Given the description of an element on the screen output the (x, y) to click on. 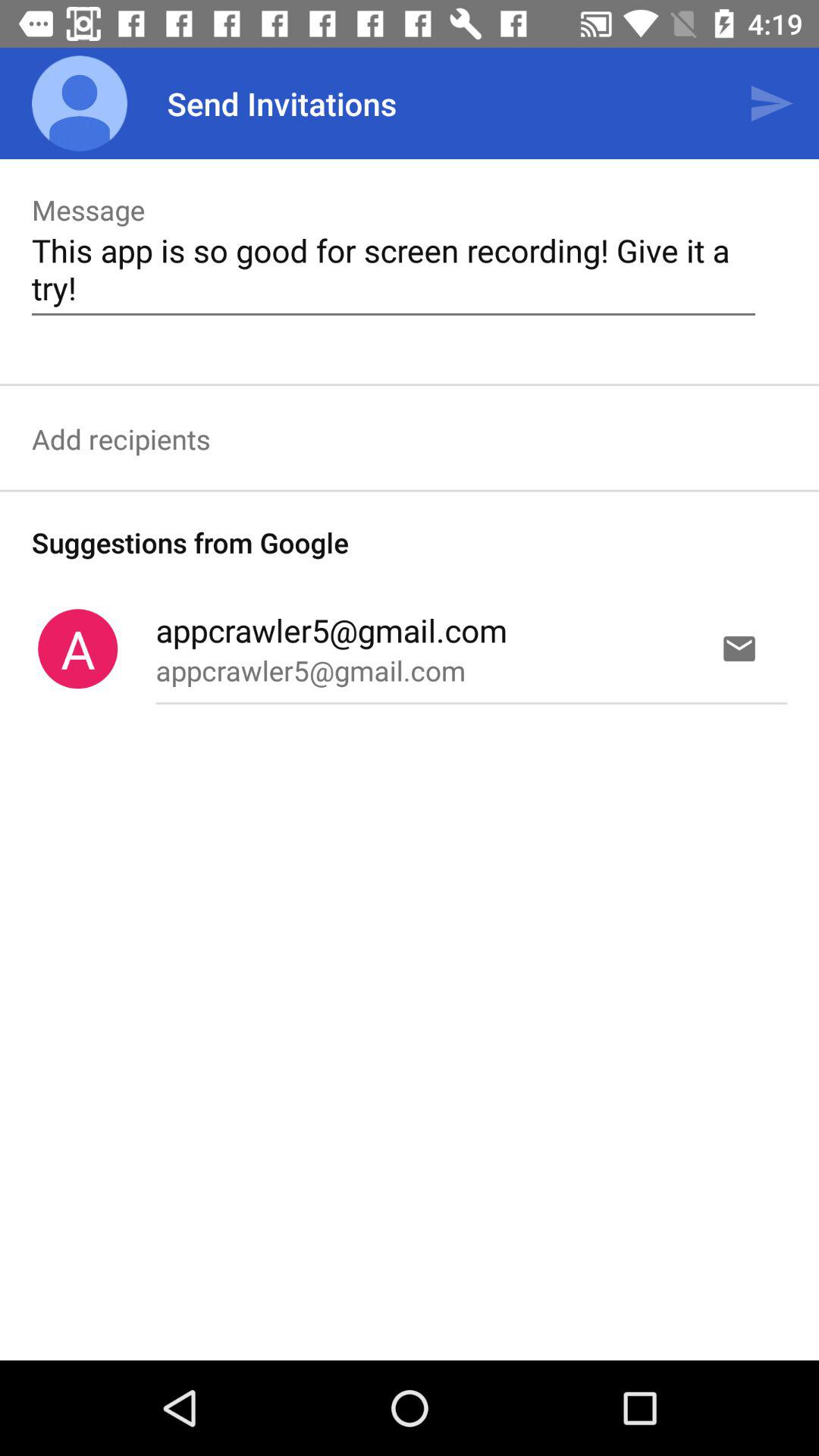
select the text which is written below the message (393, 269)
select the symbol which is beside appcrawler5gmailcom (77, 648)
click on the send icon (771, 103)
